Given the description of an element on the screen output the (x, y) to click on. 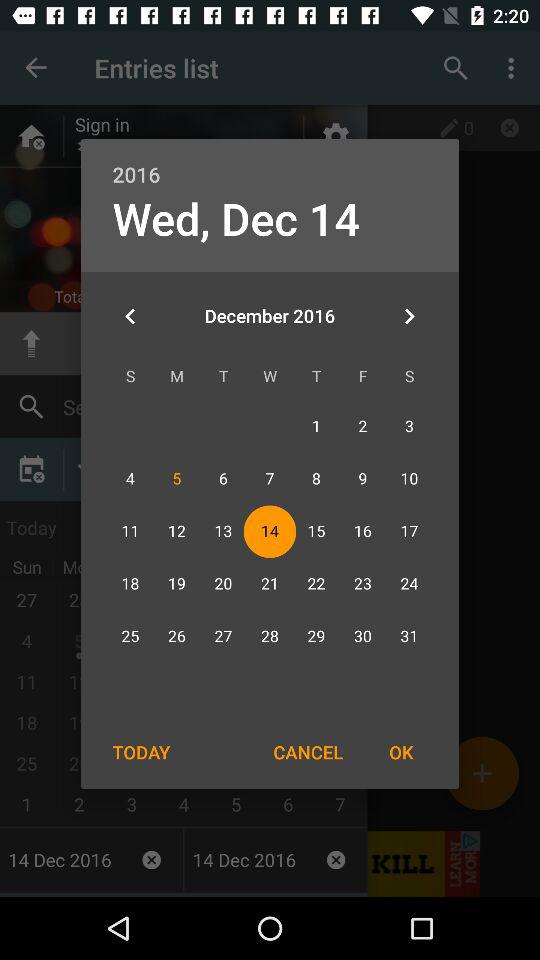
launch 2016 item (269, 163)
